Given the description of an element on the screen output the (x, y) to click on. 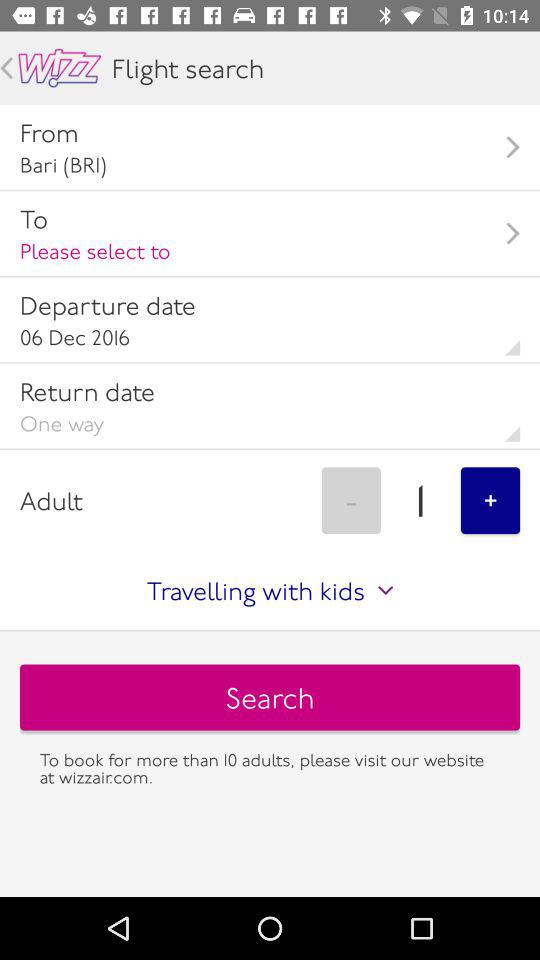
turn on item above travelling with kids item (351, 500)
